Given the description of an element on the screen output the (x, y) to click on. 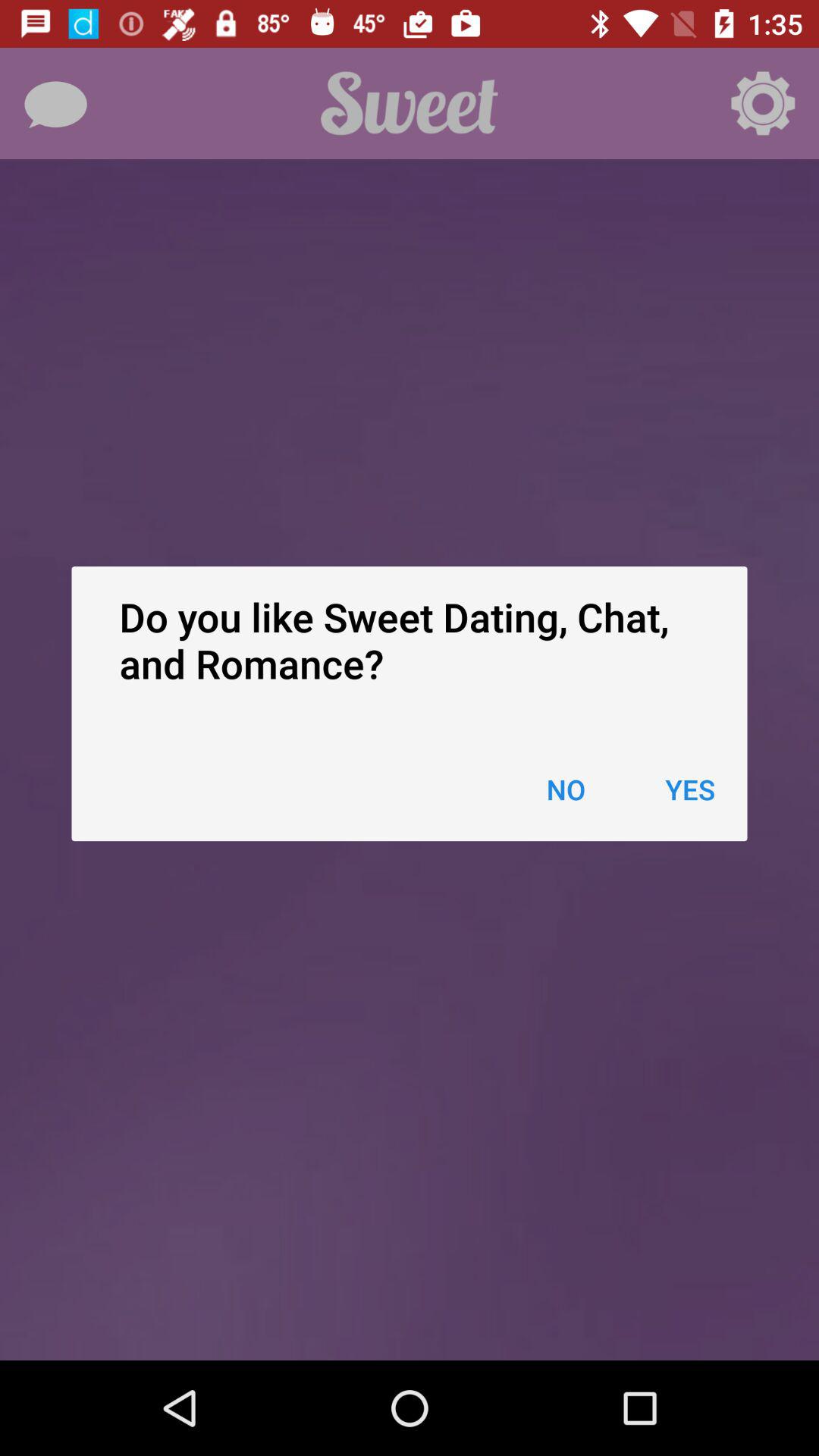
open the item to the right of the no item (690, 789)
